Given the description of an element on the screen output the (x, y) to click on. 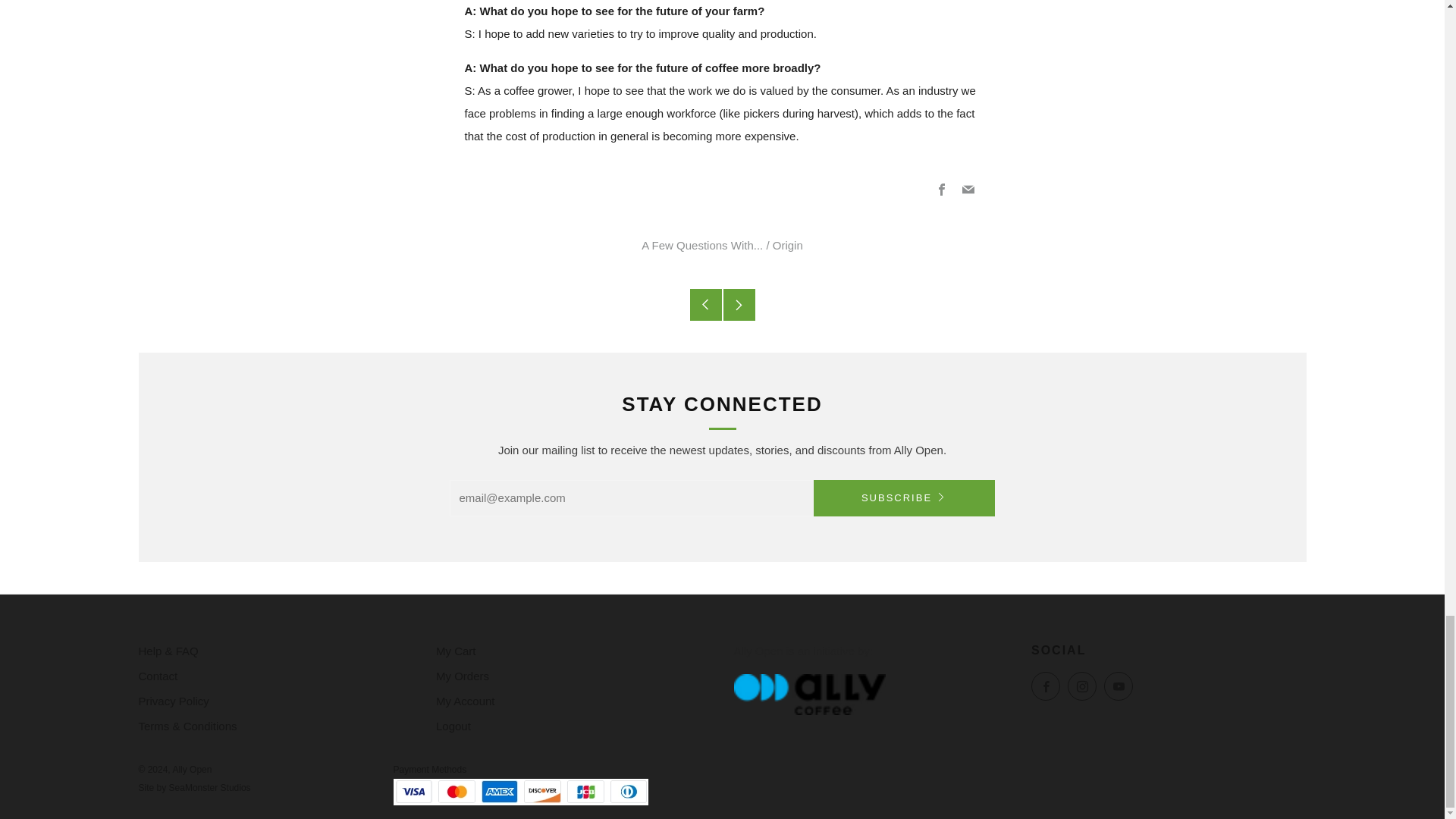
Show articles tagged Origin (788, 245)
Show articles tagged A Few Questions With... (702, 245)
Newer Post (739, 305)
SUBSCRIBE (903, 497)
Seattle based web design and development (209, 787)
Origin (788, 245)
A Few Questions With... (702, 245)
Email (967, 189)
Older Post (706, 305)
Facebook (941, 189)
